Given the description of an element on the screen output the (x, y) to click on. 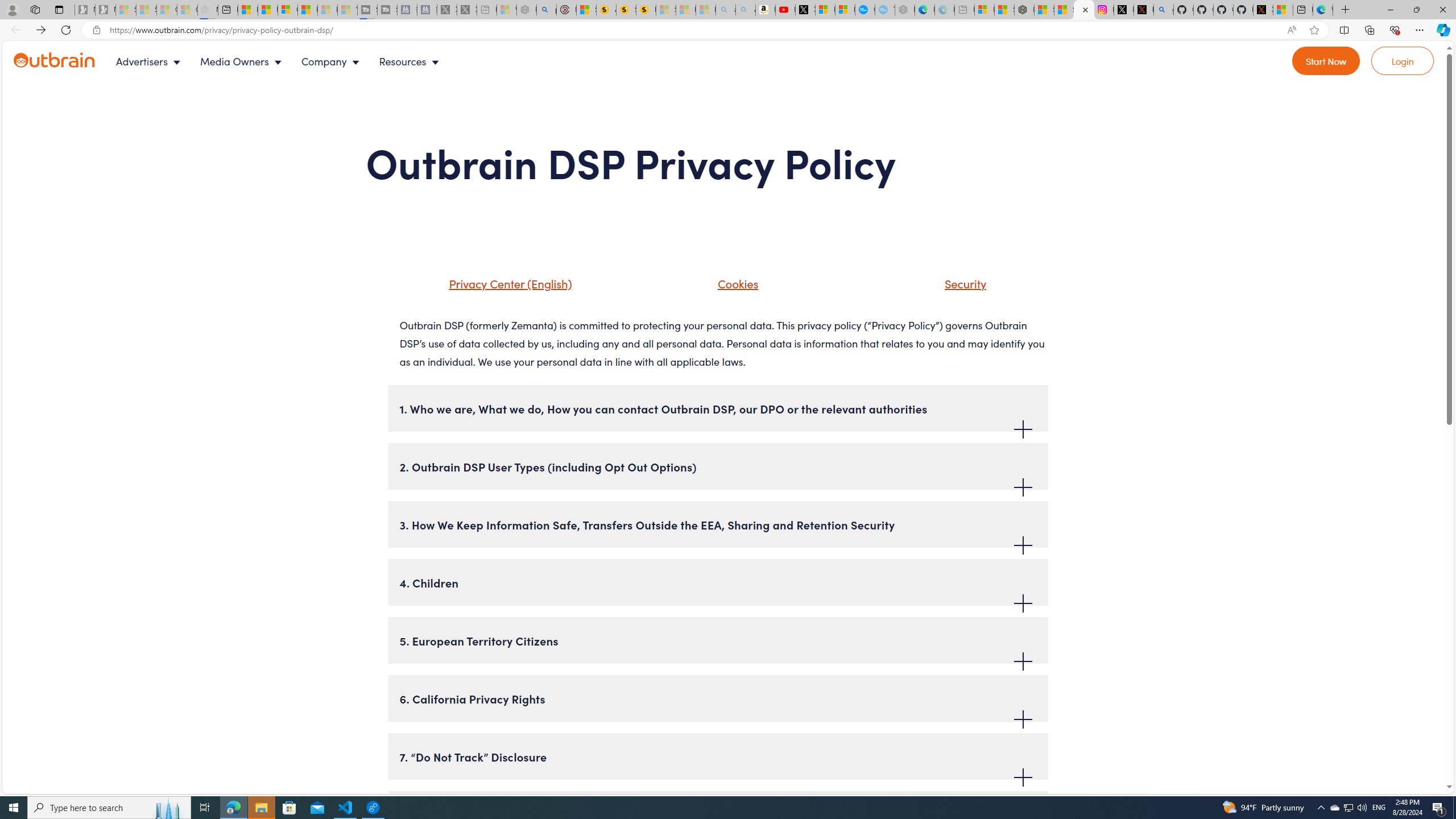
6. California Privacy Rights (717, 697)
